Given the description of an element on the screen output the (x, y) to click on. 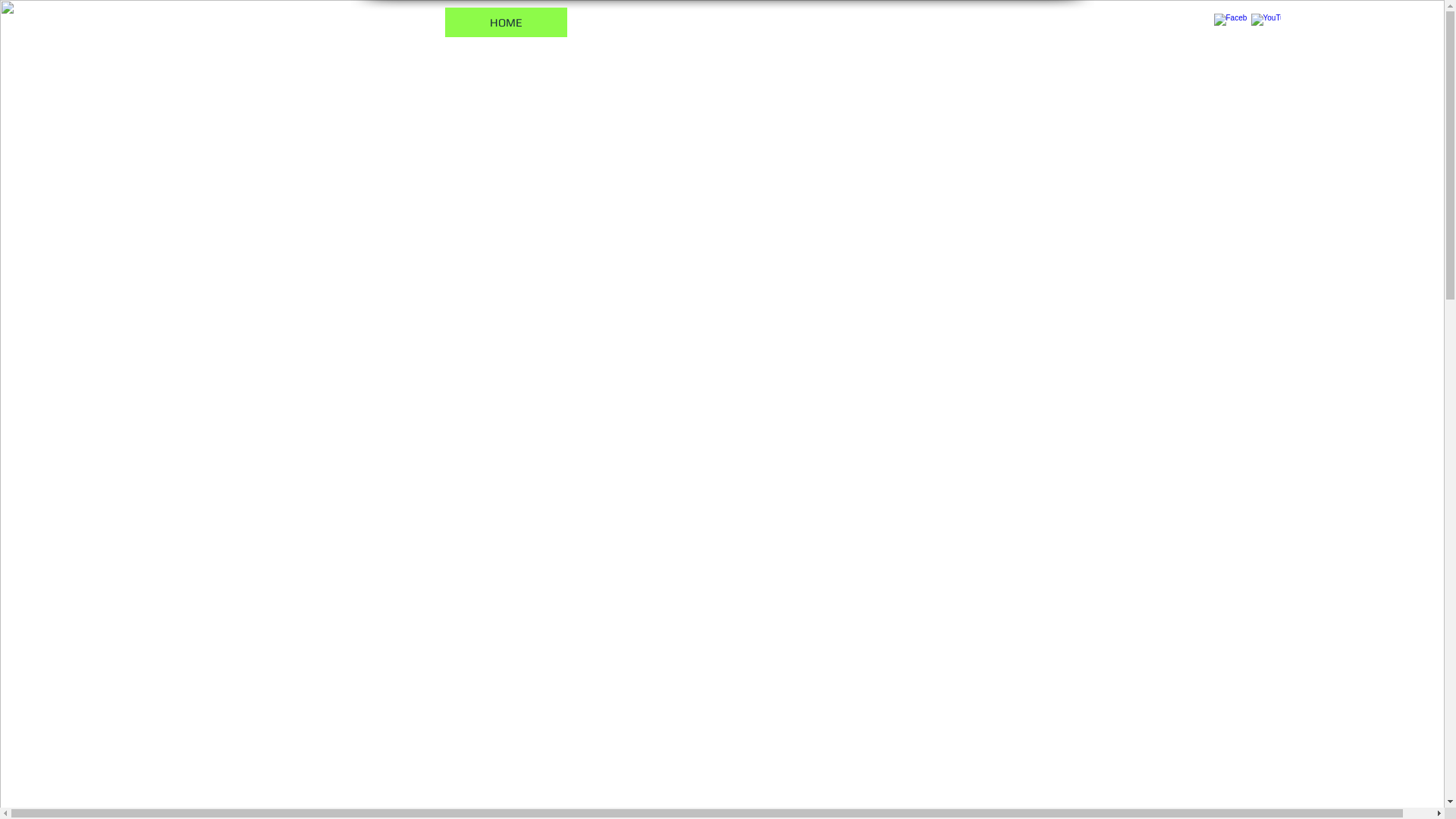
3 FAT CATS Element type: text (641, 22)
HOME Element type: text (505, 22)
https://www.facebook.com/profile.php?id=100029971877848 Element type: text (1202, 504)
CONTACT Element type: text (928, 22)
CATALONE Element type: text (786, 22)
